Given the description of an element on the screen output the (x, y) to click on. 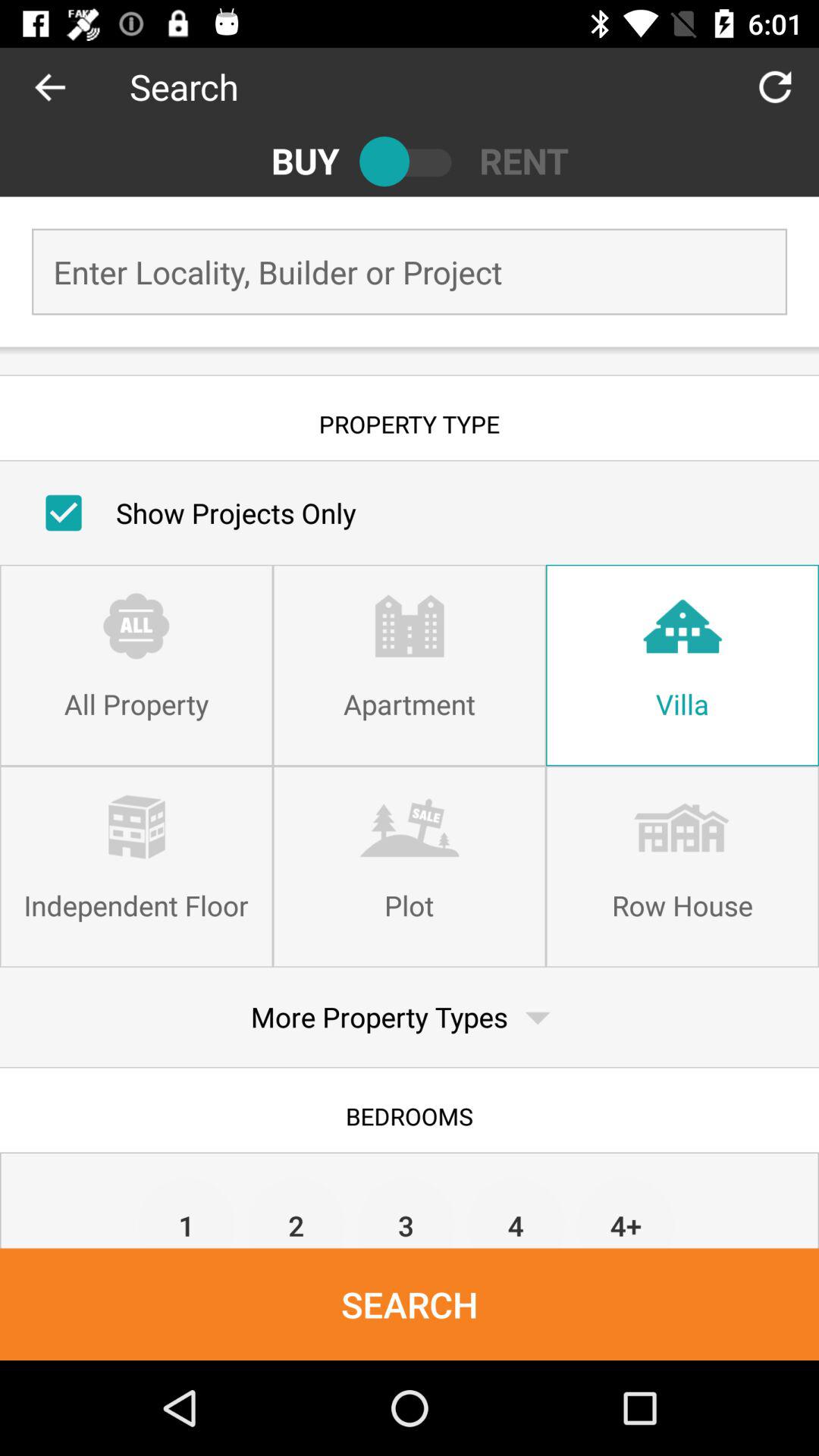
click the item to the right of the buy item (409, 161)
